Given the description of an element on the screen output the (x, y) to click on. 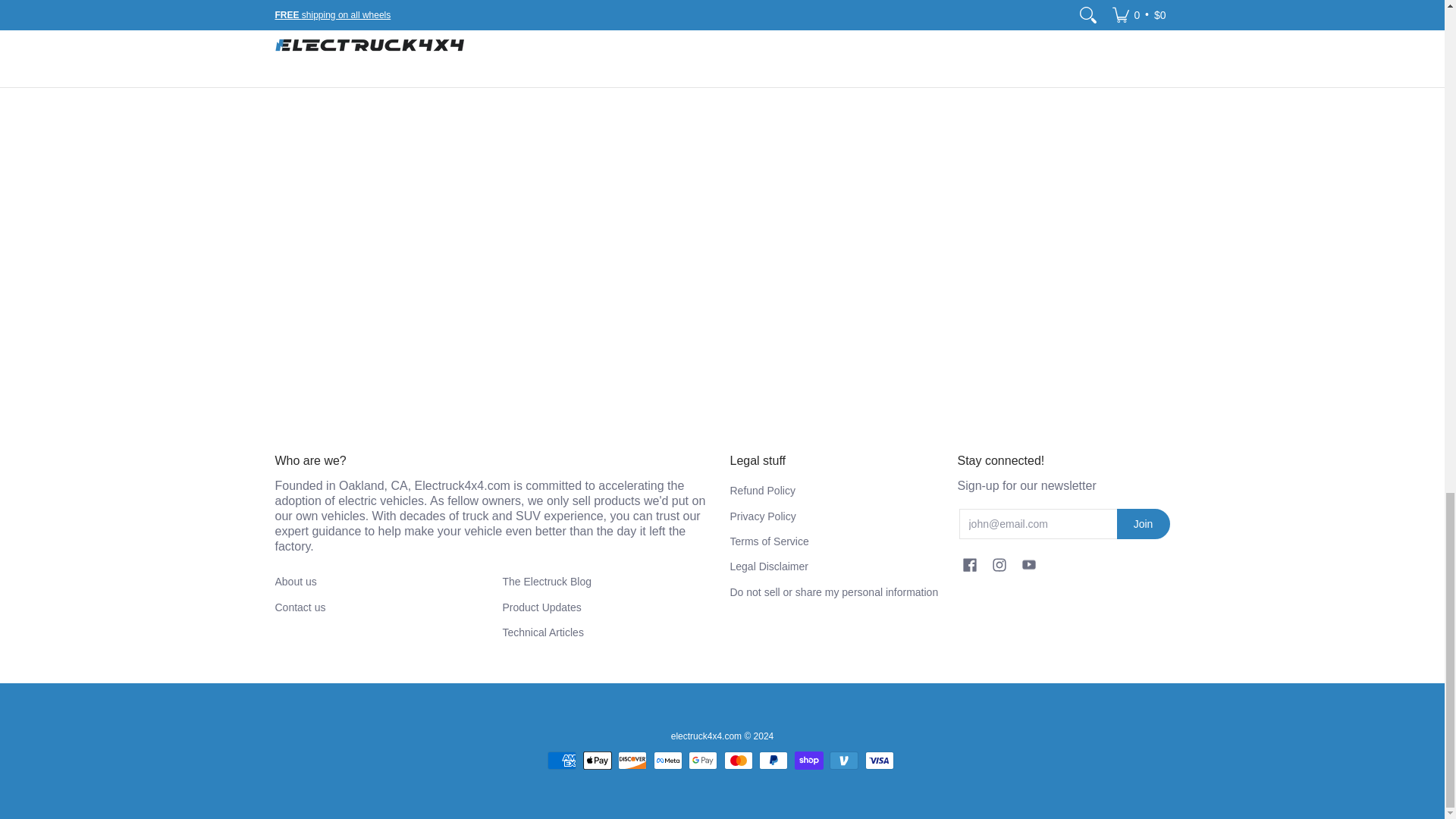
Meta Pay (667, 760)
Discover (631, 760)
American Express (561, 760)
Google Pay (702, 760)
Apple Pay (597, 760)
Mastercard (737, 760)
